Given the description of an element on the screen output the (x, y) to click on. 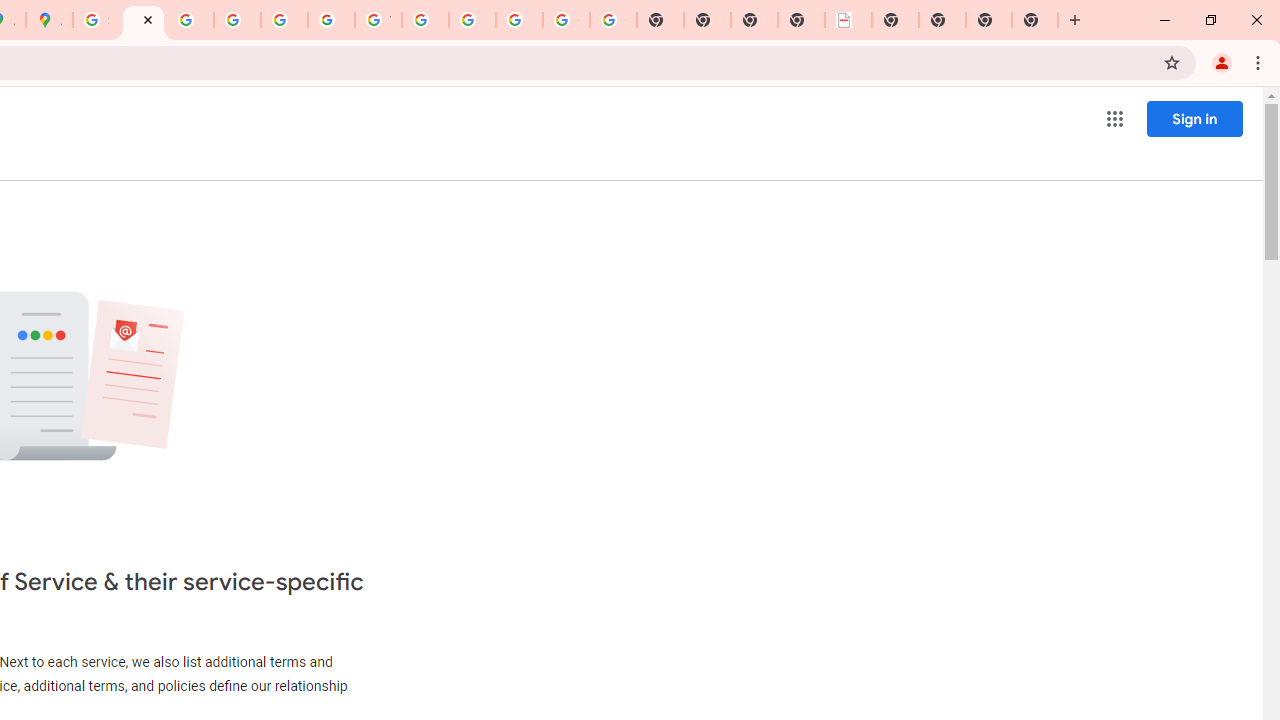
New Tab (989, 20)
YouTube (377, 20)
Privacy Help Center - Policies Help (237, 20)
